Given the description of an element on the screen output the (x, y) to click on. 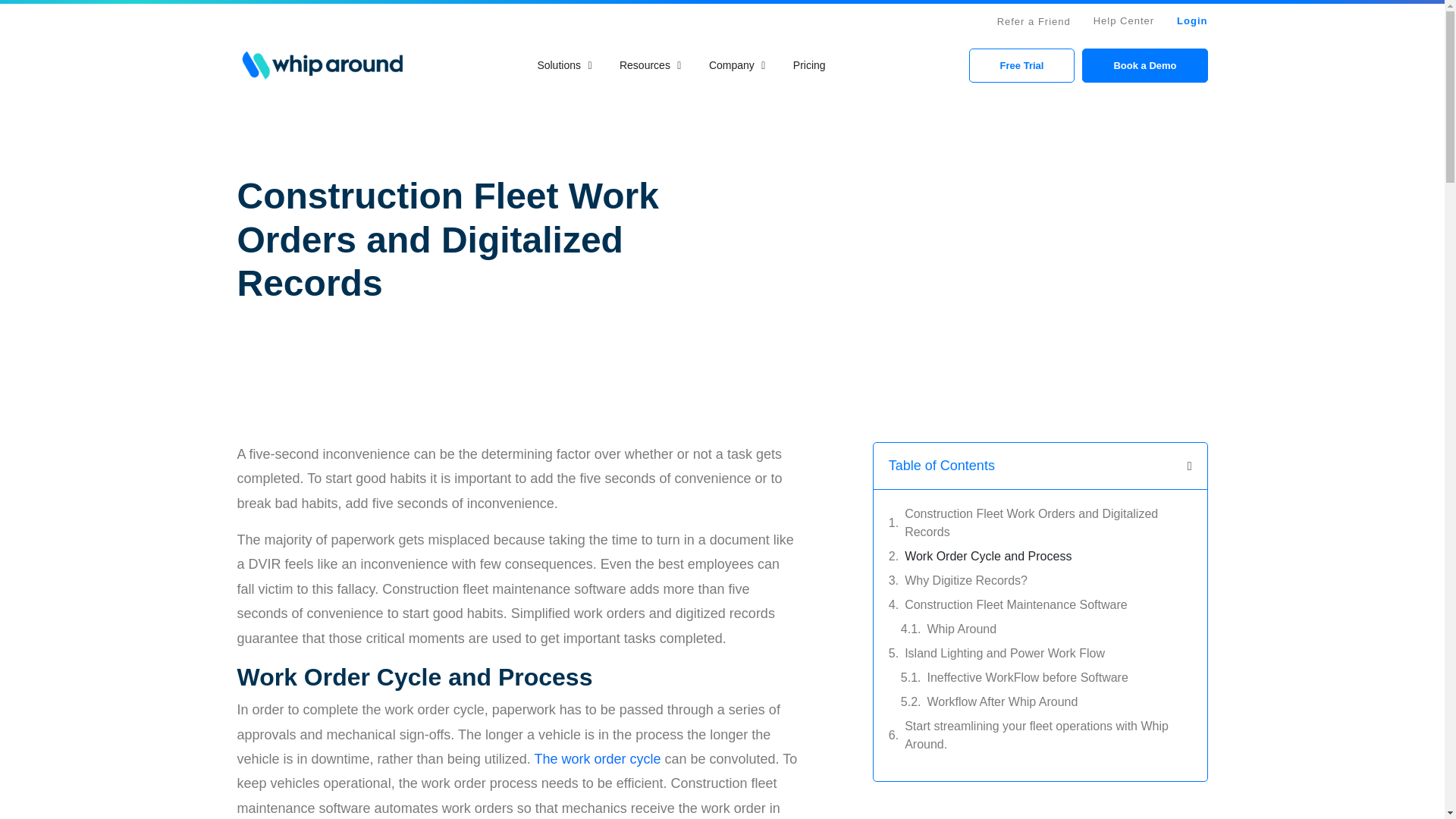
Book a Demo (1144, 65)
Help Center (1123, 20)
Login (1191, 20)
Pricing (809, 65)
Refer a Friend (1033, 21)
Free Trial (1022, 65)
